Given the description of an element on the screen output the (x, y) to click on. 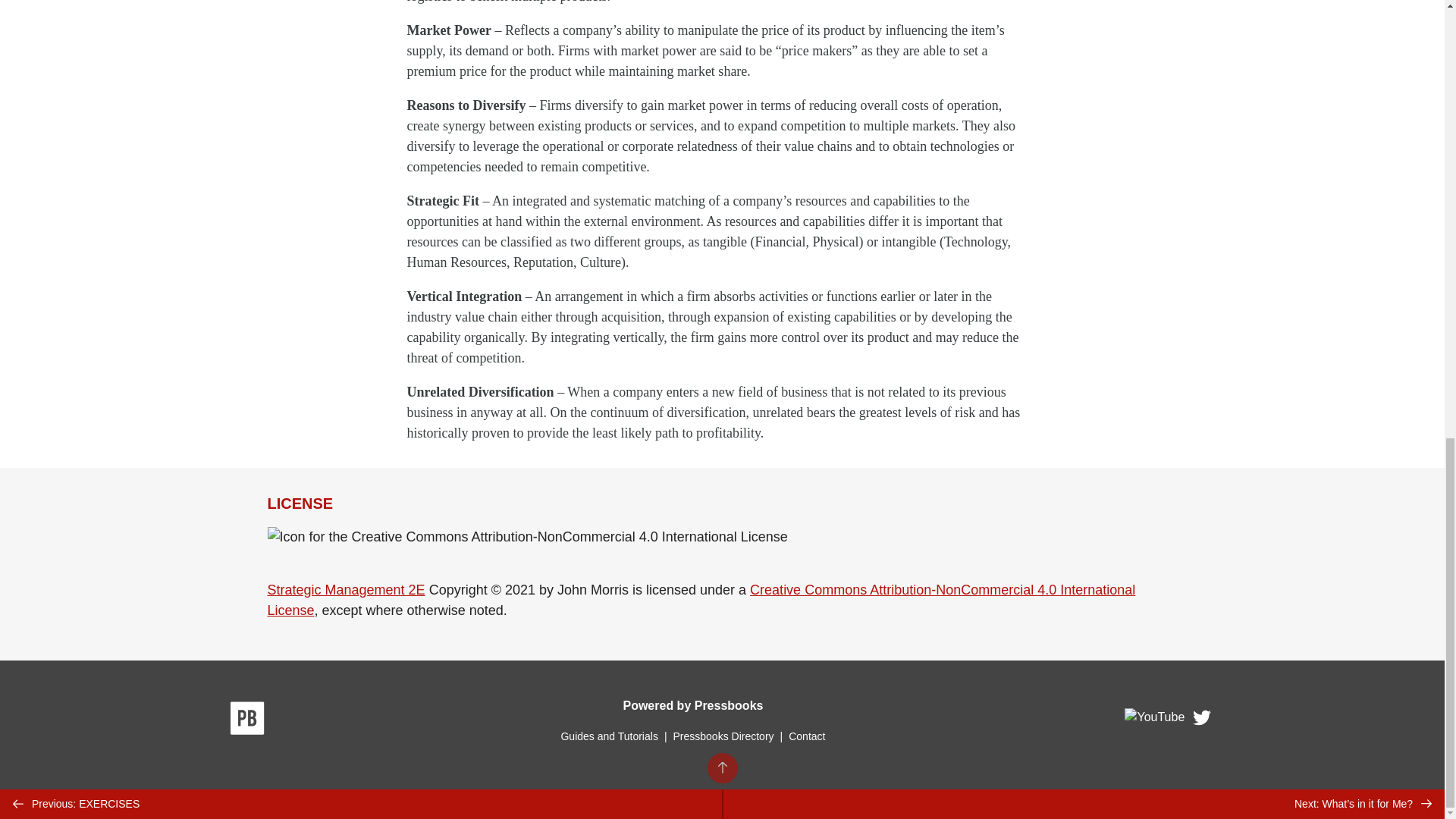
Strategic Management 2E (345, 589)
Powered by Pressbooks (692, 705)
Contact (807, 736)
Pressbooks Directory (723, 736)
Guides and Tutorials (608, 736)
Pressbooks on YouTube (1155, 720)
